Given the description of an element on the screen output the (x, y) to click on. 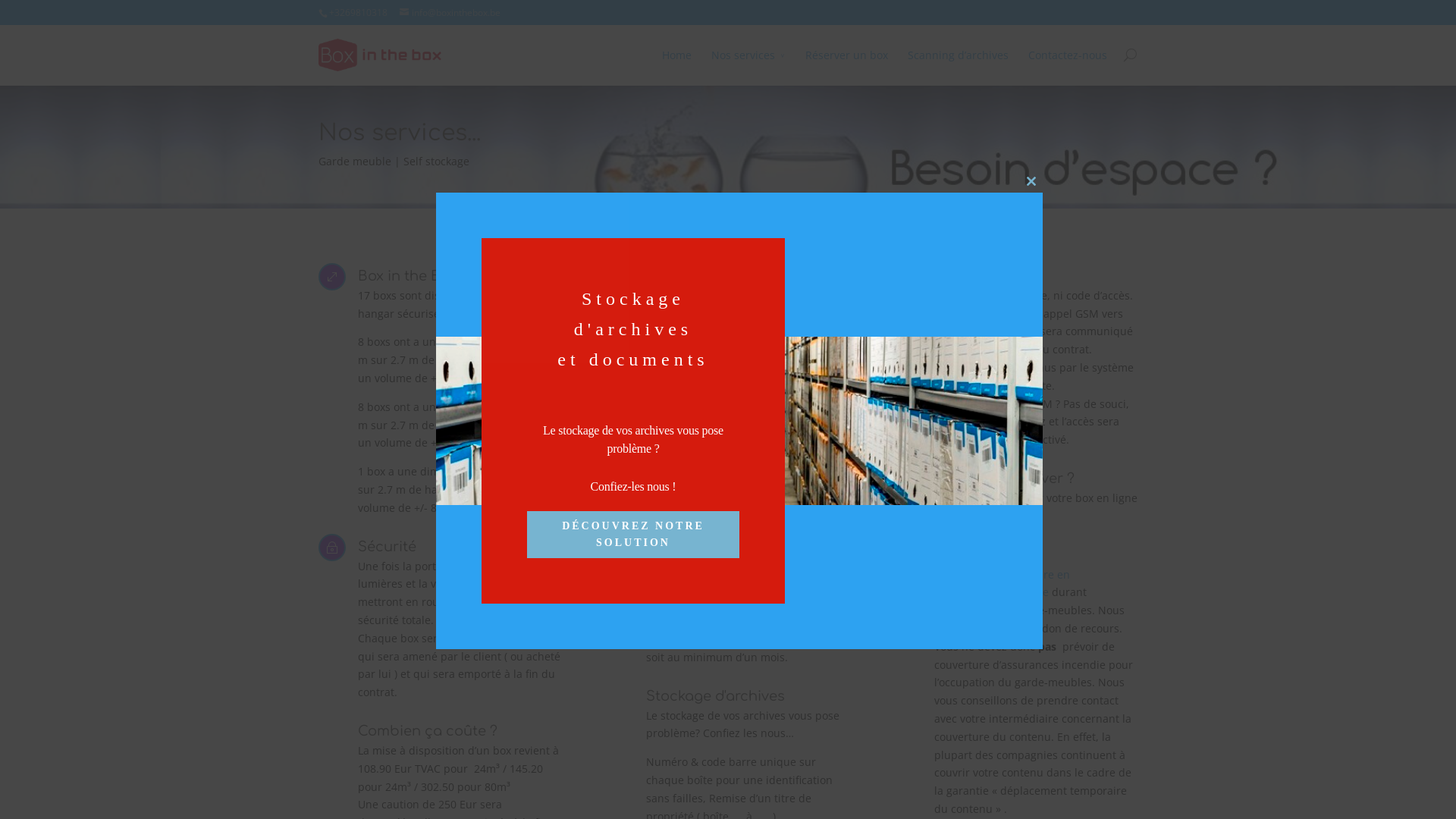
Close this module Element type: text (1030, 180)
Nos services Element type: text (748, 65)
cliquant ici Element type: text (978, 515)
Home Element type: text (676, 65)
info@boxinthebox.be Element type: text (449, 12)
Contactez-nous Element type: text (1067, 65)
